Given the description of an element on the screen output the (x, y) to click on. 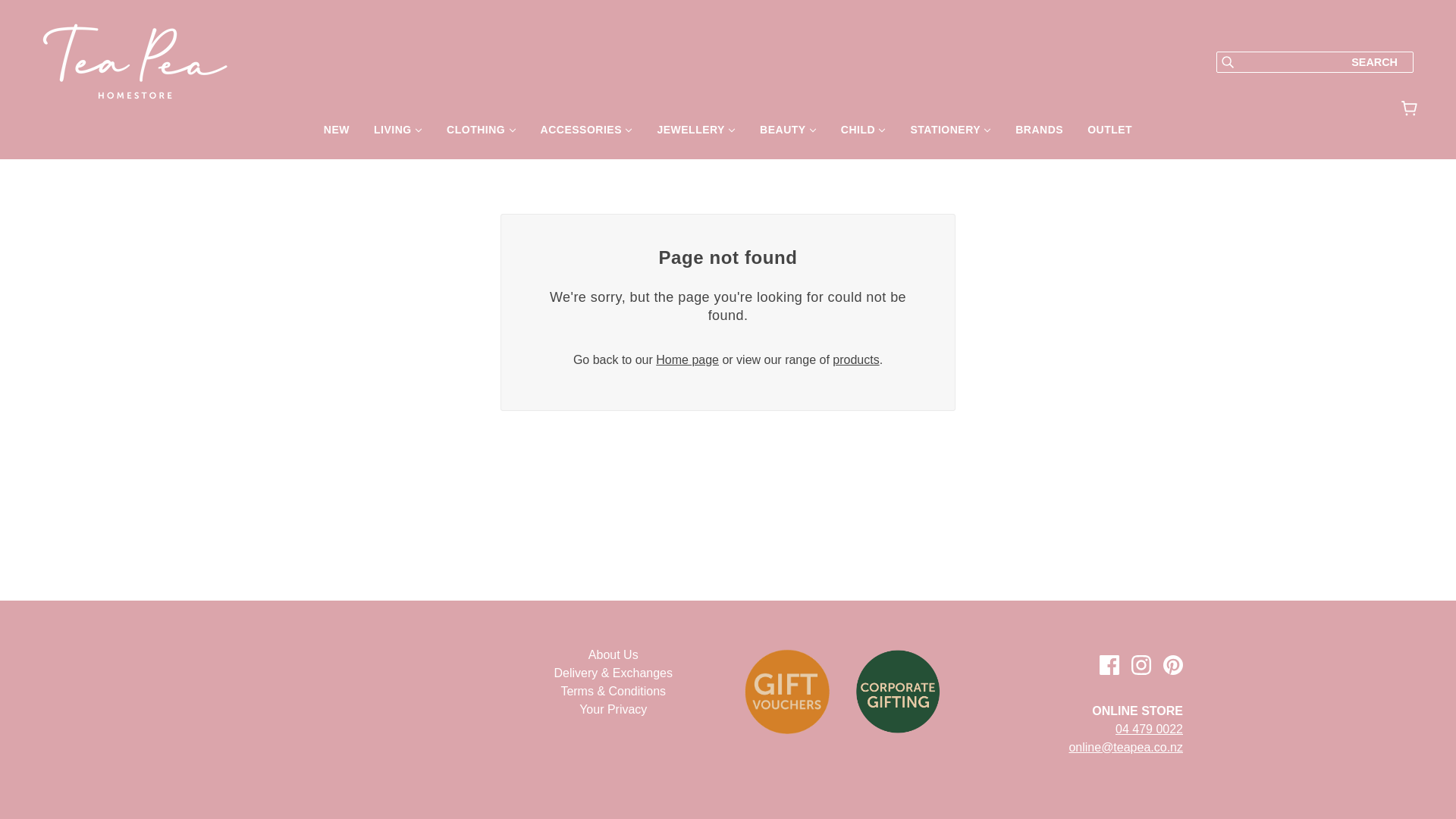
CLOTHING  (480, 135)
LIVING  (397, 135)
NEW (336, 135)
Corporate Gifting (898, 691)
Gift Cards (786, 691)
Your Privacy (612, 708)
About Us (613, 654)
Phone now (1148, 728)
Tea Pea (134, 93)
